Given the description of an element on the screen output the (x, y) to click on. 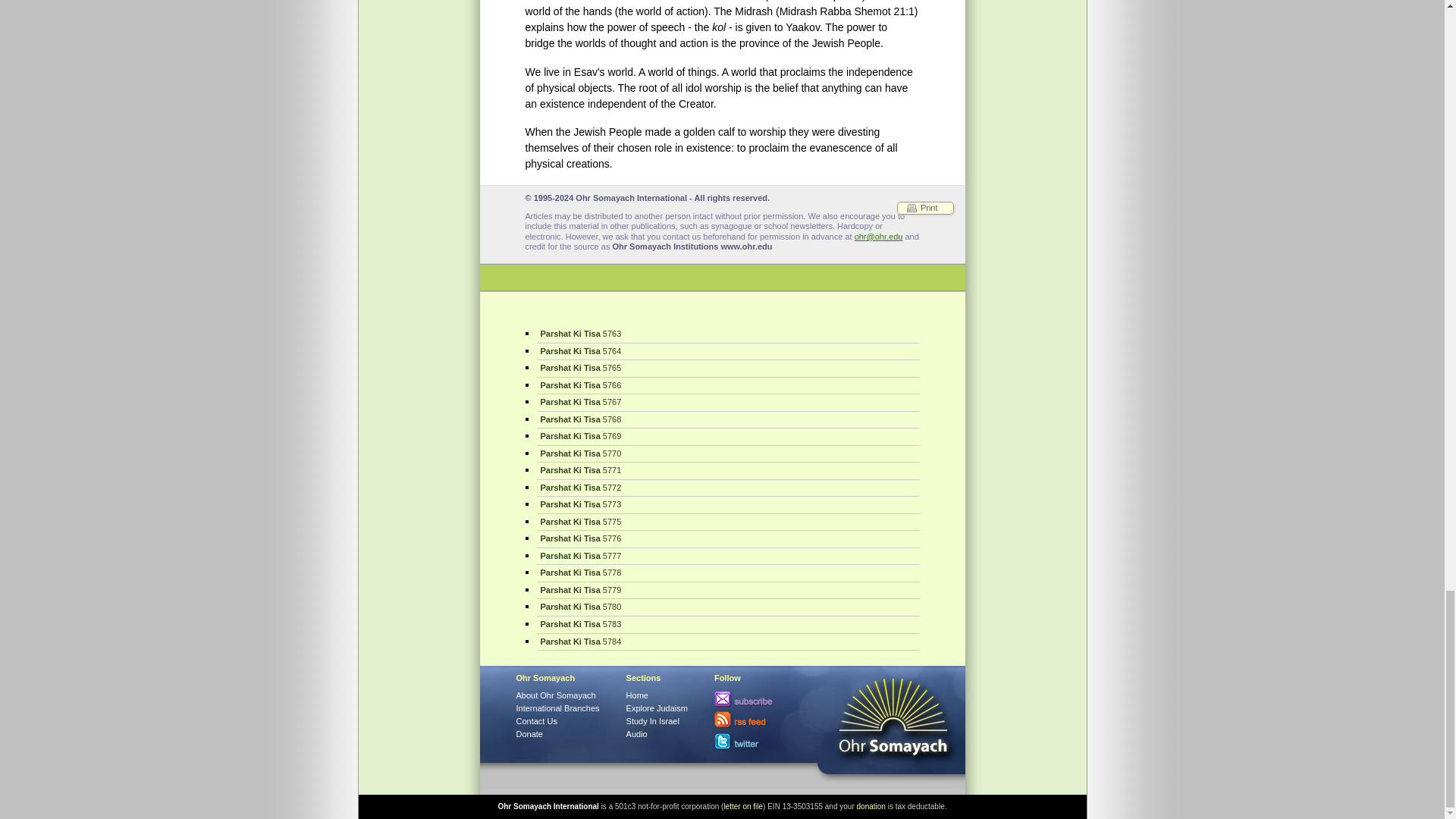
Parshat Ki Tisa 5769 (728, 436)
Parshat Ki Tisa 5763 (728, 334)
Parshat Ki Tisa 5766 (728, 385)
Parshat Ki Tisa 5764 (728, 351)
Parshat Ki Tisa 5770 (728, 453)
Parshat Ki Tisa 5768 (728, 419)
Print (924, 207)
Parshat Ki Tisa 5765 (728, 368)
Parshat Ki Tisa 5767 (728, 402)
